Given the description of an element on the screen output the (x, y) to click on. 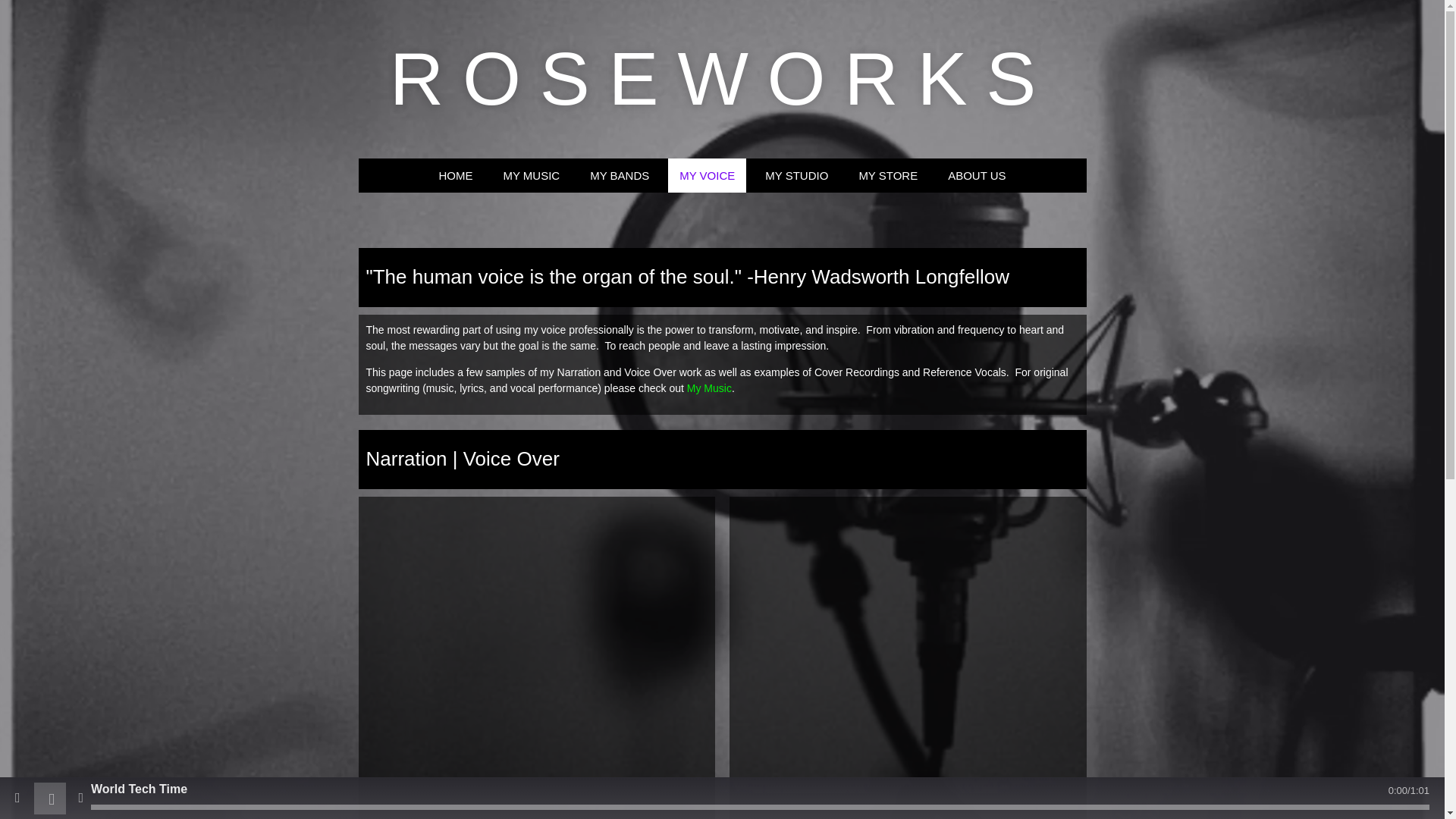
MY STUDIO (797, 175)
HOME (454, 175)
ROSEWORKS (722, 97)
MY VOICE (706, 175)
My Music (709, 387)
ABOUT US (976, 175)
MY STORE (887, 175)
MY BANDS (619, 175)
MY MUSIC (531, 175)
